Given the description of an element on the screen output the (x, y) to click on. 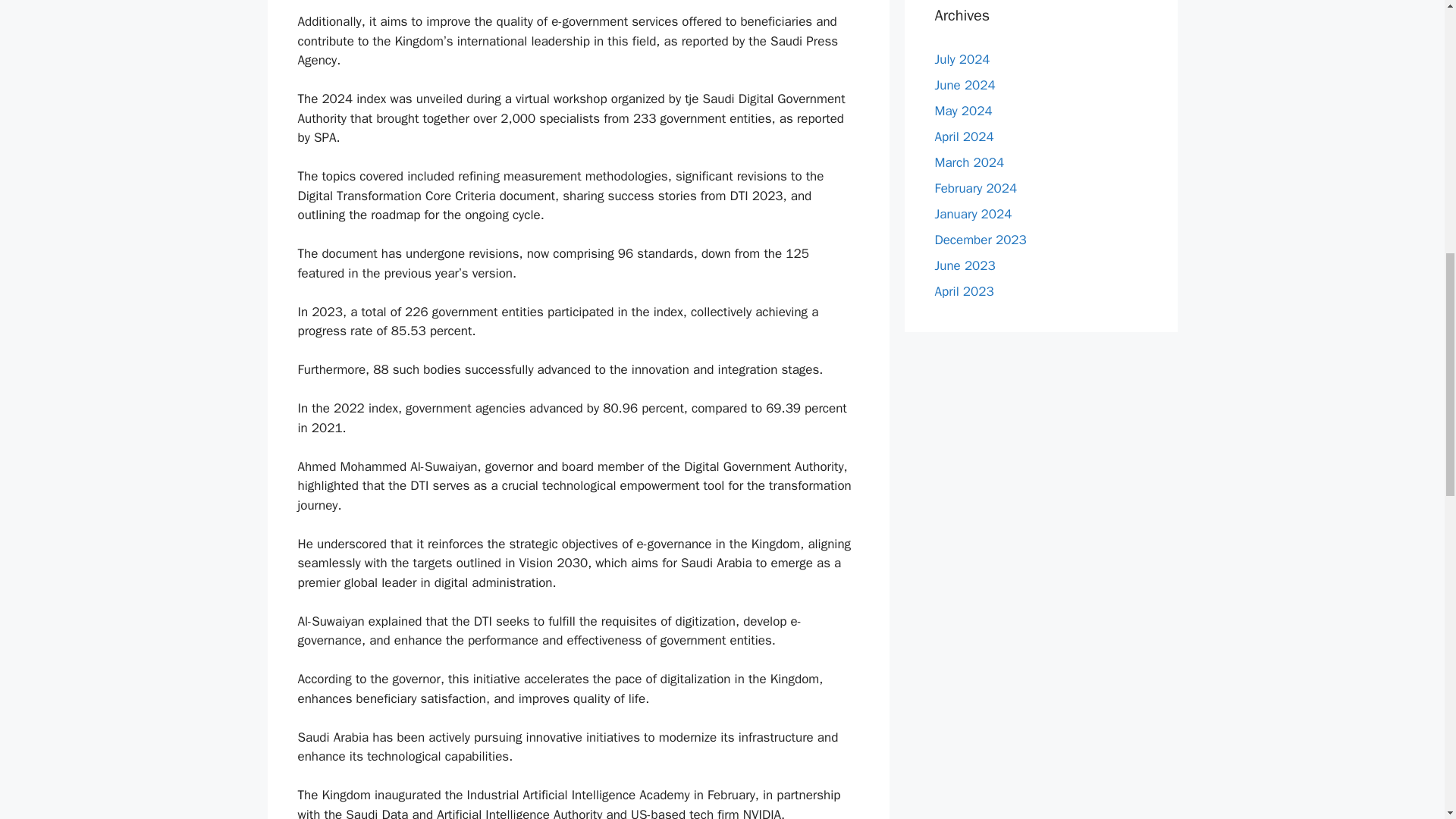
January 2024 (972, 213)
March 2024 (969, 162)
February 2024 (975, 188)
April 2024 (963, 136)
June 2024 (964, 84)
December 2023 (980, 239)
April 2023 (963, 291)
May 2024 (962, 110)
July 2024 (962, 59)
June 2023 (964, 265)
